Given the description of an element on the screen output the (x, y) to click on. 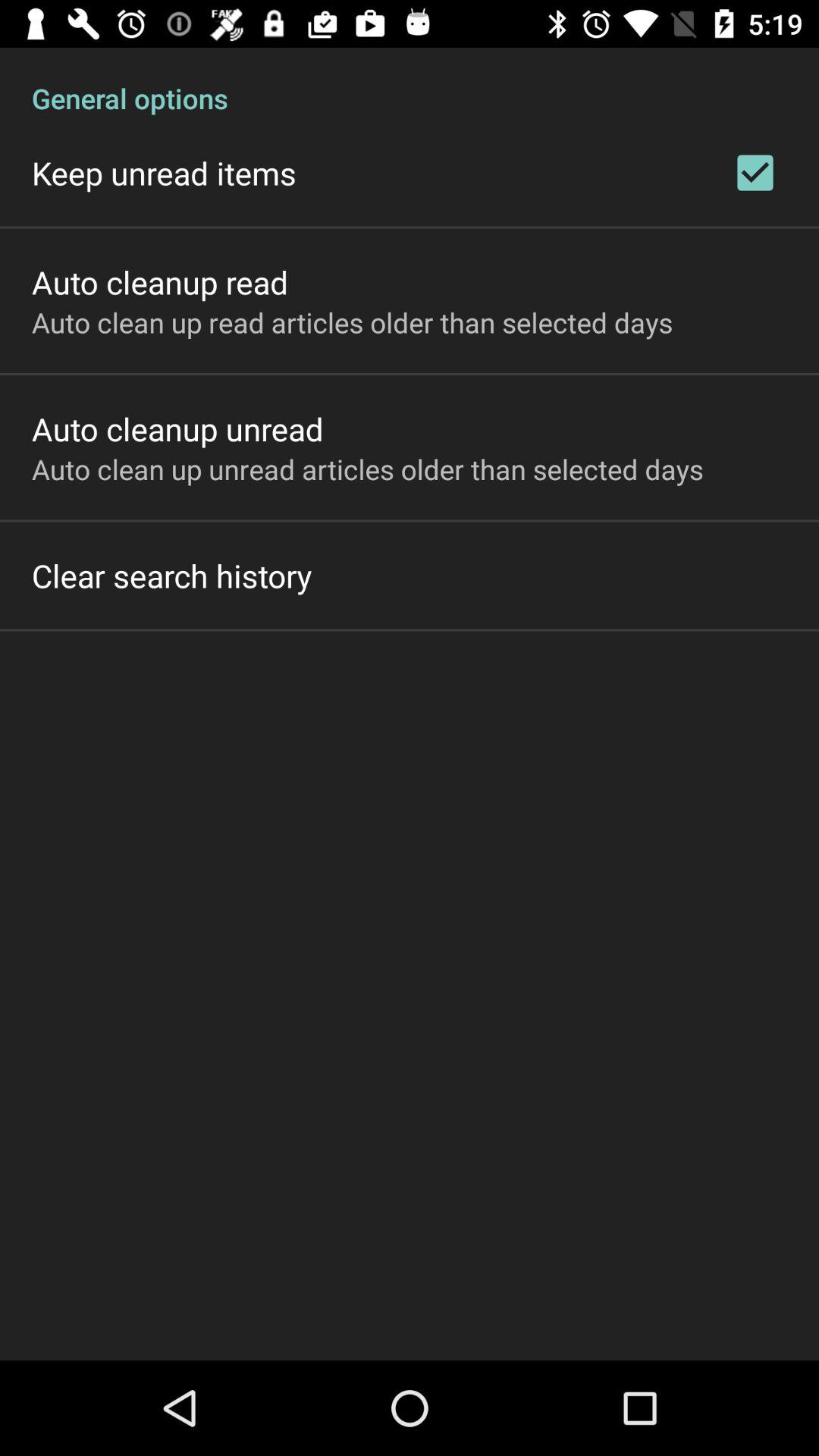
choose general options item (409, 82)
